Given the description of an element on the screen output the (x, y) to click on. 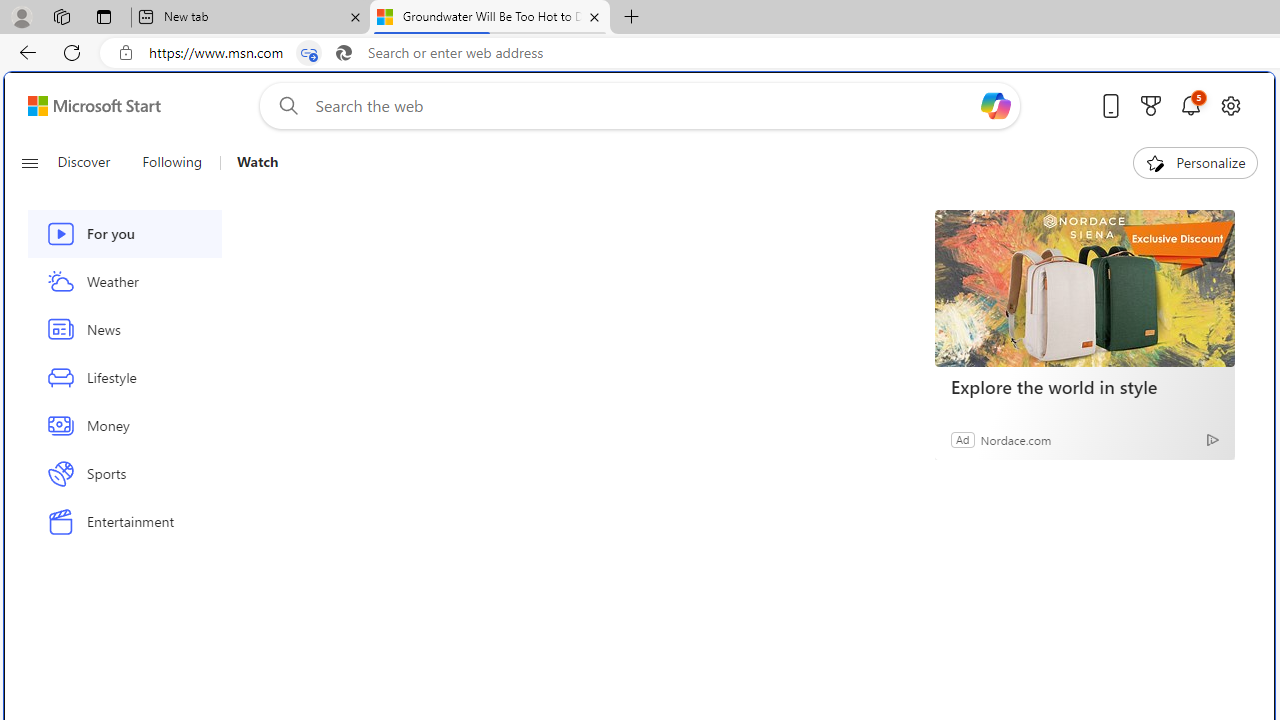
Microsoft Start (94, 105)
Personalize (1195, 162)
Tabs in split screen (308, 53)
Tab actions menu (104, 16)
Class: button-glyph (29, 162)
New Tab (632, 17)
Watch (249, 162)
Open Copilot (995, 105)
Web search (283, 105)
Back (24, 52)
Enter your search term (644, 106)
Personal Profile (21, 16)
Ad Choice (1212, 439)
Nordace.com (1016, 439)
